Given the description of an element on the screen output the (x, y) to click on. 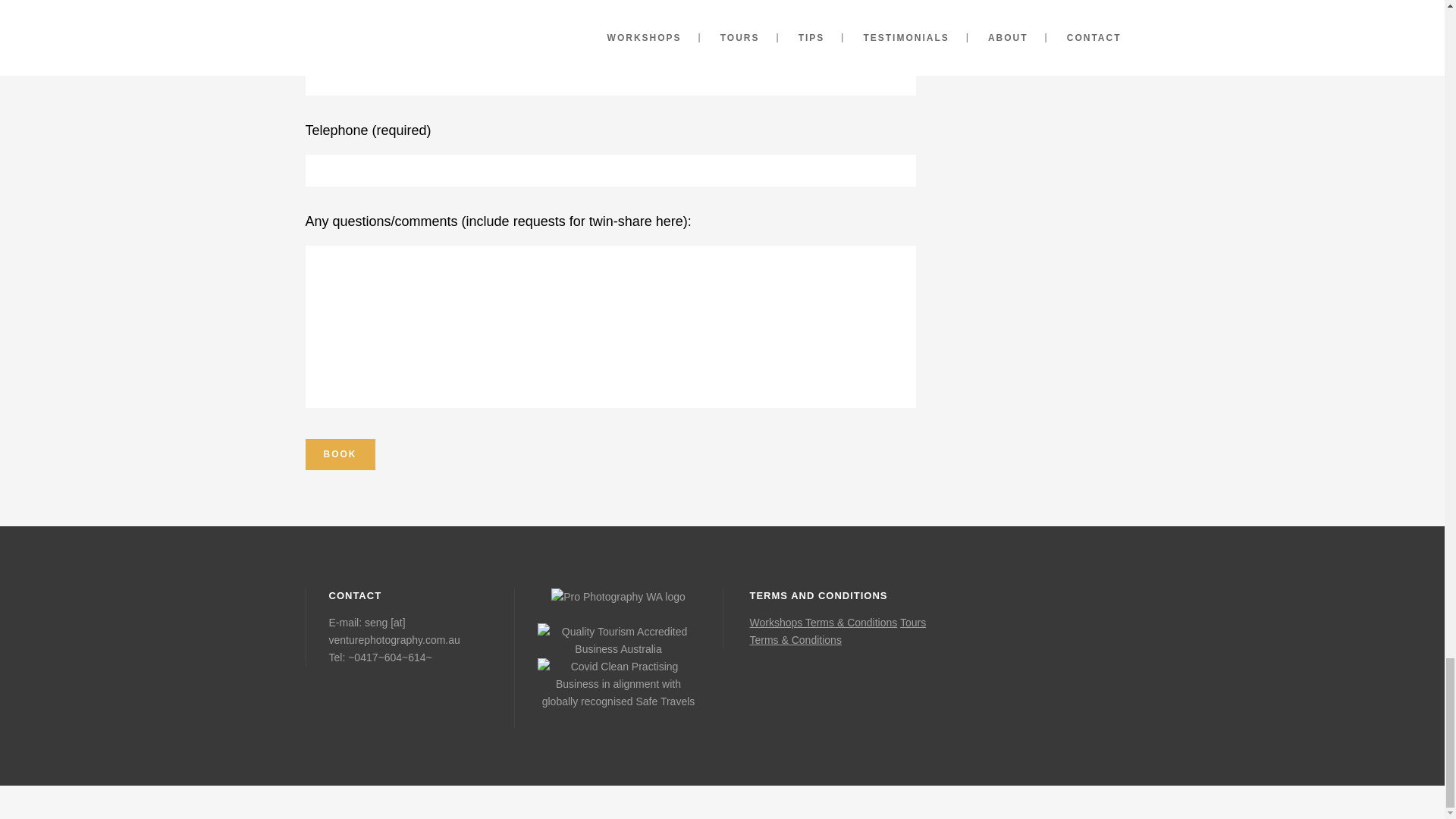
Book (339, 453)
Book (339, 453)
